Given the description of an element on the screen output the (x, y) to click on. 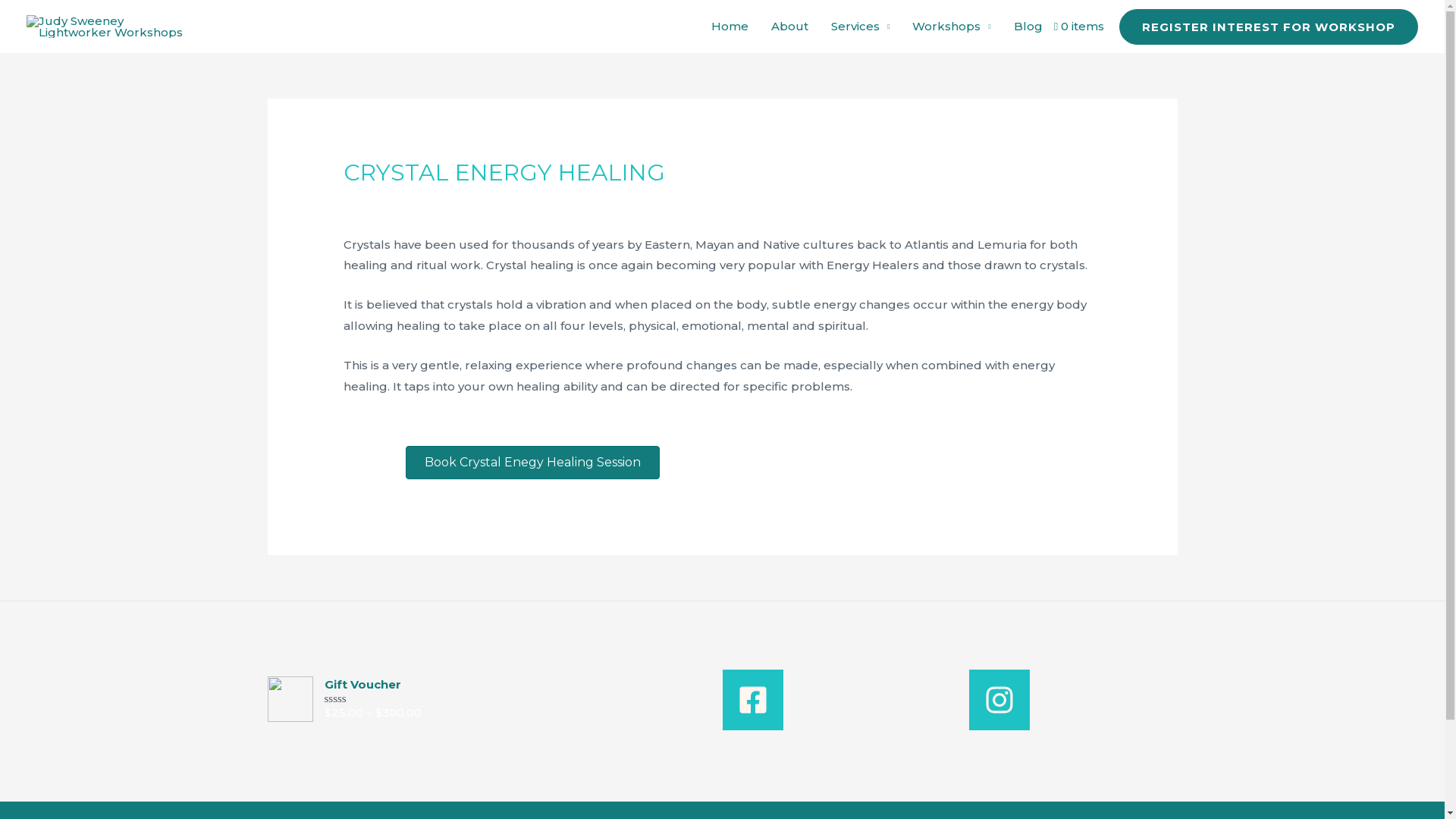
Blog Element type: text (1028, 26)
Home Element type: text (729, 26)
Workshops Element type: text (950, 26)
Services Element type: text (859, 26)
REGISTER INTEREST FOR WORKSHOP Element type: text (1268, 26)
Gift Voucher Element type: text (504, 684)
0 items Element type: text (1079, 26)
About Element type: text (789, 26)
Book Crystal Enegy Healing Session Element type: text (532, 462)
